Given the description of an element on the screen output the (x, y) to click on. 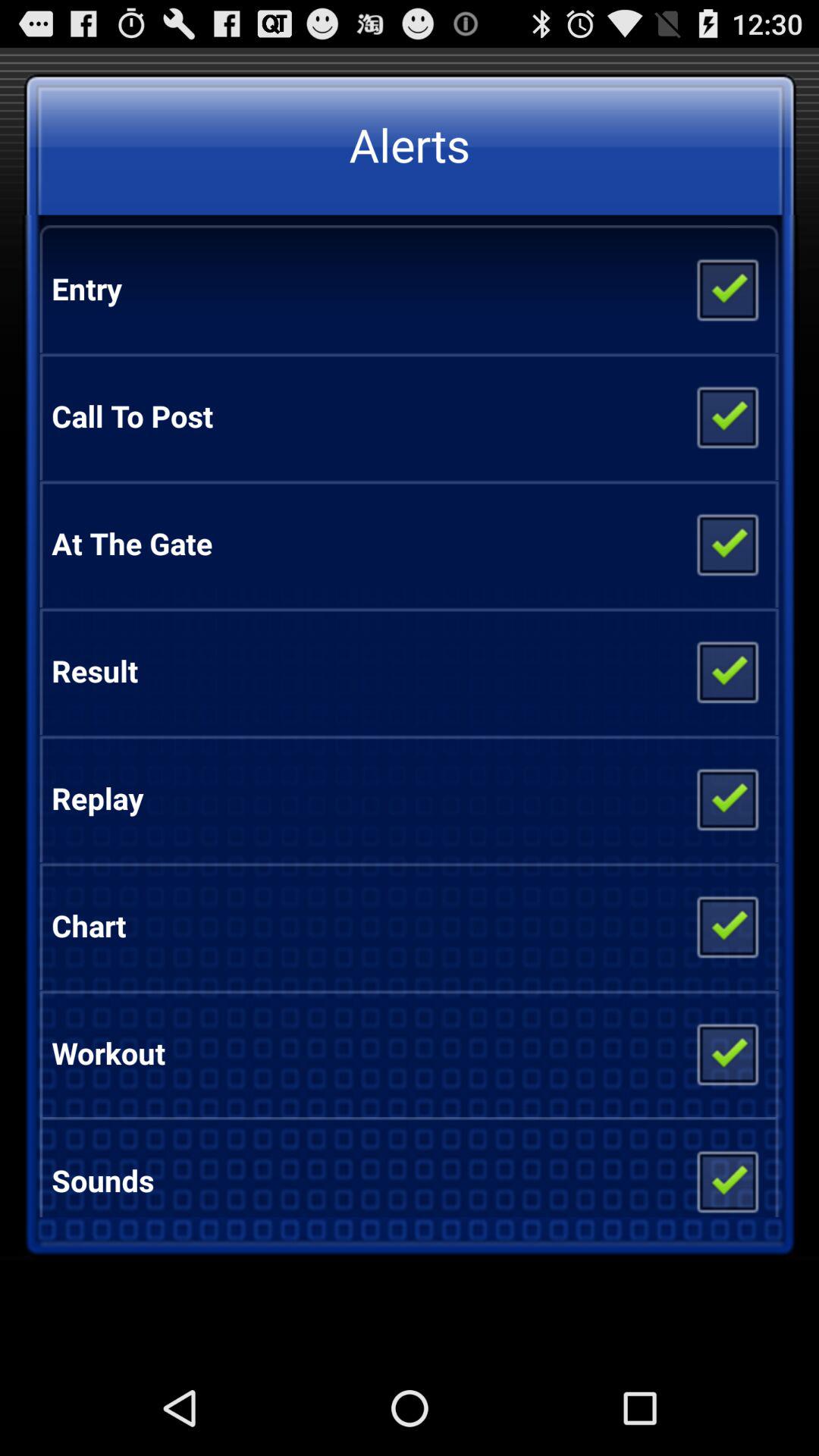
check or uncheck option (726, 416)
